Given the description of an element on the screen output the (x, y) to click on. 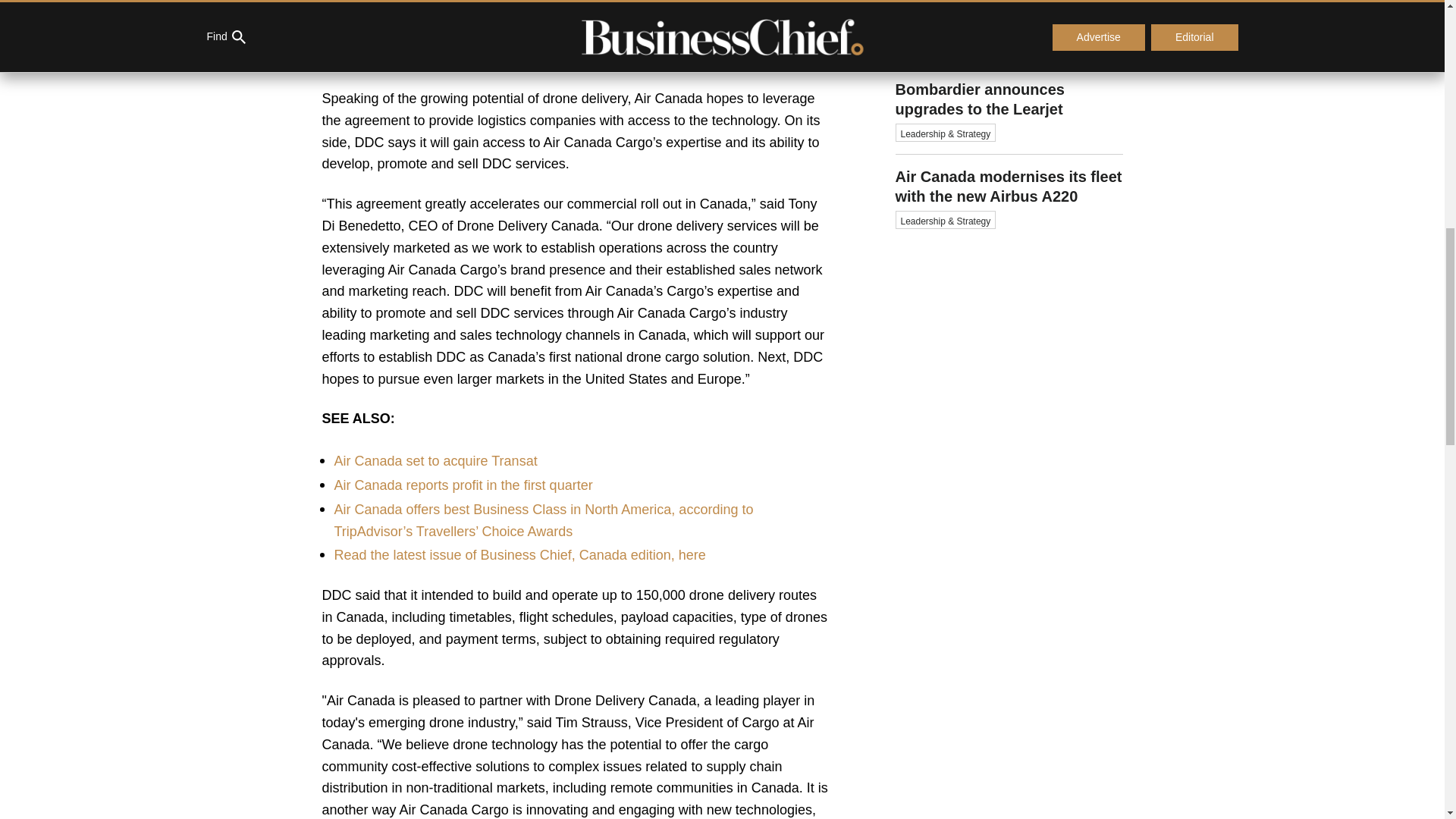
Air Canada reports profit in the first quarter (462, 485)
Air Canada set to acquire Transat (435, 460)
